Given the description of an element on the screen output the (x, y) to click on. 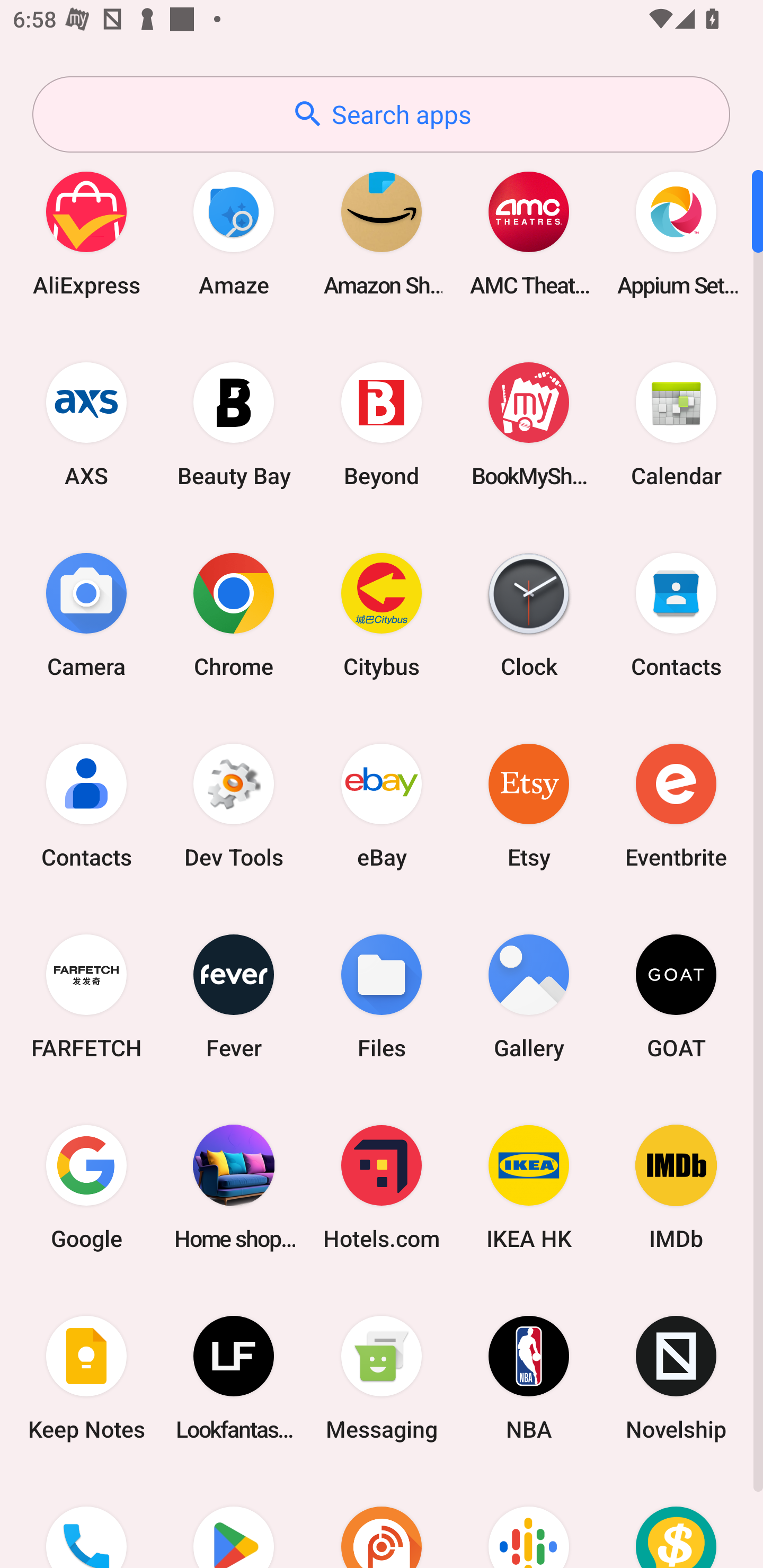
  Search apps (381, 114)
AliExpress (86, 233)
Amaze (233, 233)
Amazon Shopping (381, 233)
AMC Theatres (528, 233)
Appium Settings (676, 233)
AXS (86, 424)
Beauty Bay (233, 424)
Beyond (381, 424)
BookMyShow (528, 424)
Calendar (676, 424)
Camera (86, 614)
Chrome (233, 614)
Citybus (381, 614)
Clock (528, 614)
Contacts (676, 614)
Contacts (86, 805)
Dev Tools (233, 805)
eBay (381, 805)
Etsy (528, 805)
Eventbrite (676, 805)
FARFETCH (86, 996)
Fever (233, 996)
Files (381, 996)
Gallery (528, 996)
GOAT (676, 996)
Google (86, 1186)
Home shopping (233, 1186)
Hotels.com (381, 1186)
IKEA HK (528, 1186)
IMDb (676, 1186)
Keep Notes (86, 1377)
Lookfantastic (233, 1377)
Messaging (381, 1377)
NBA (528, 1377)
Novelship (676, 1377)
Phone (86, 1520)
Play Store (233, 1520)
Podcast Addict (381, 1520)
Podcasts (528, 1520)
Price (676, 1520)
